Given the description of an element on the screen output the (x, y) to click on. 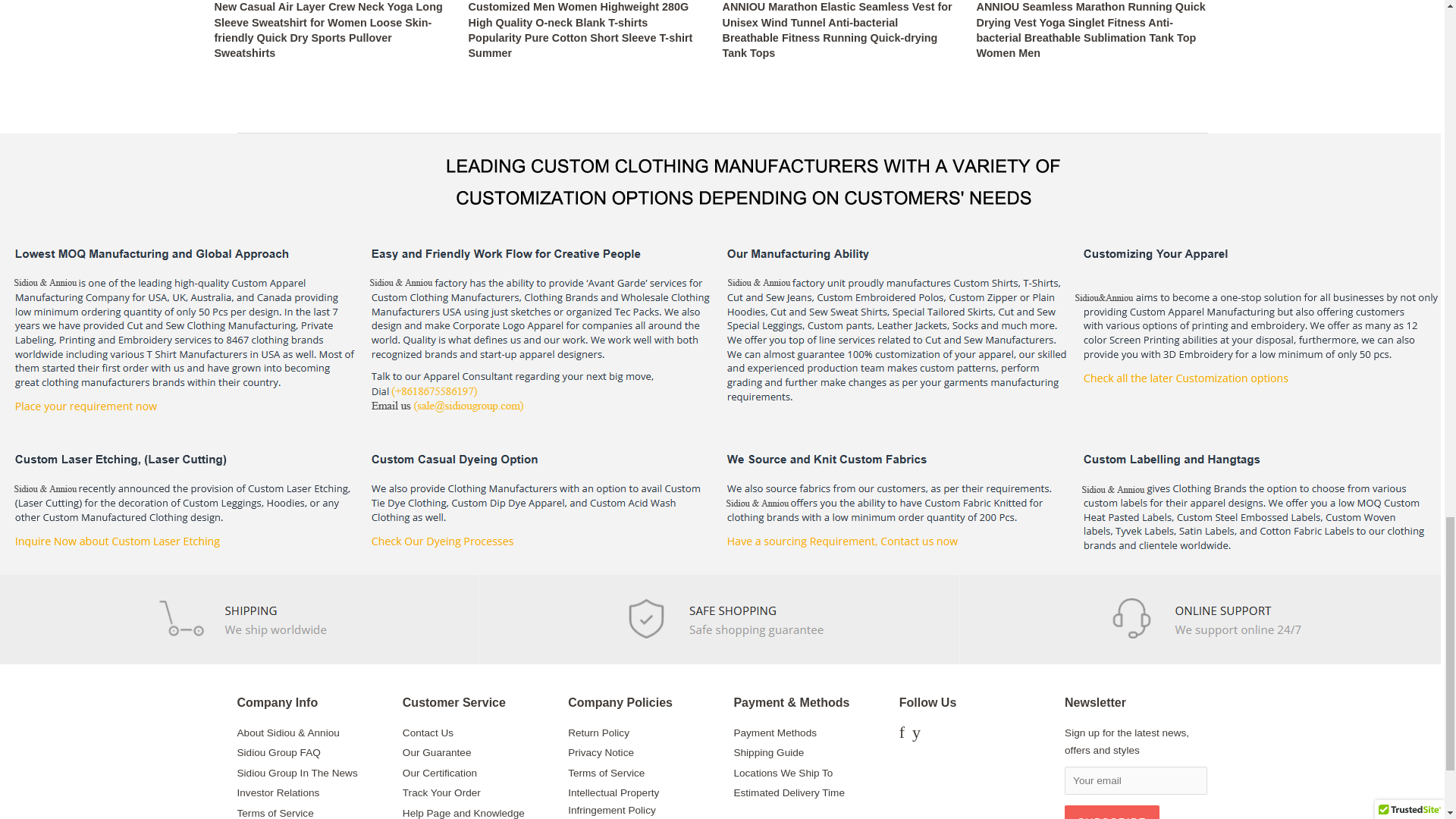
Subscribe (1111, 812)
